Given the description of an element on the screen output the (x, y) to click on. 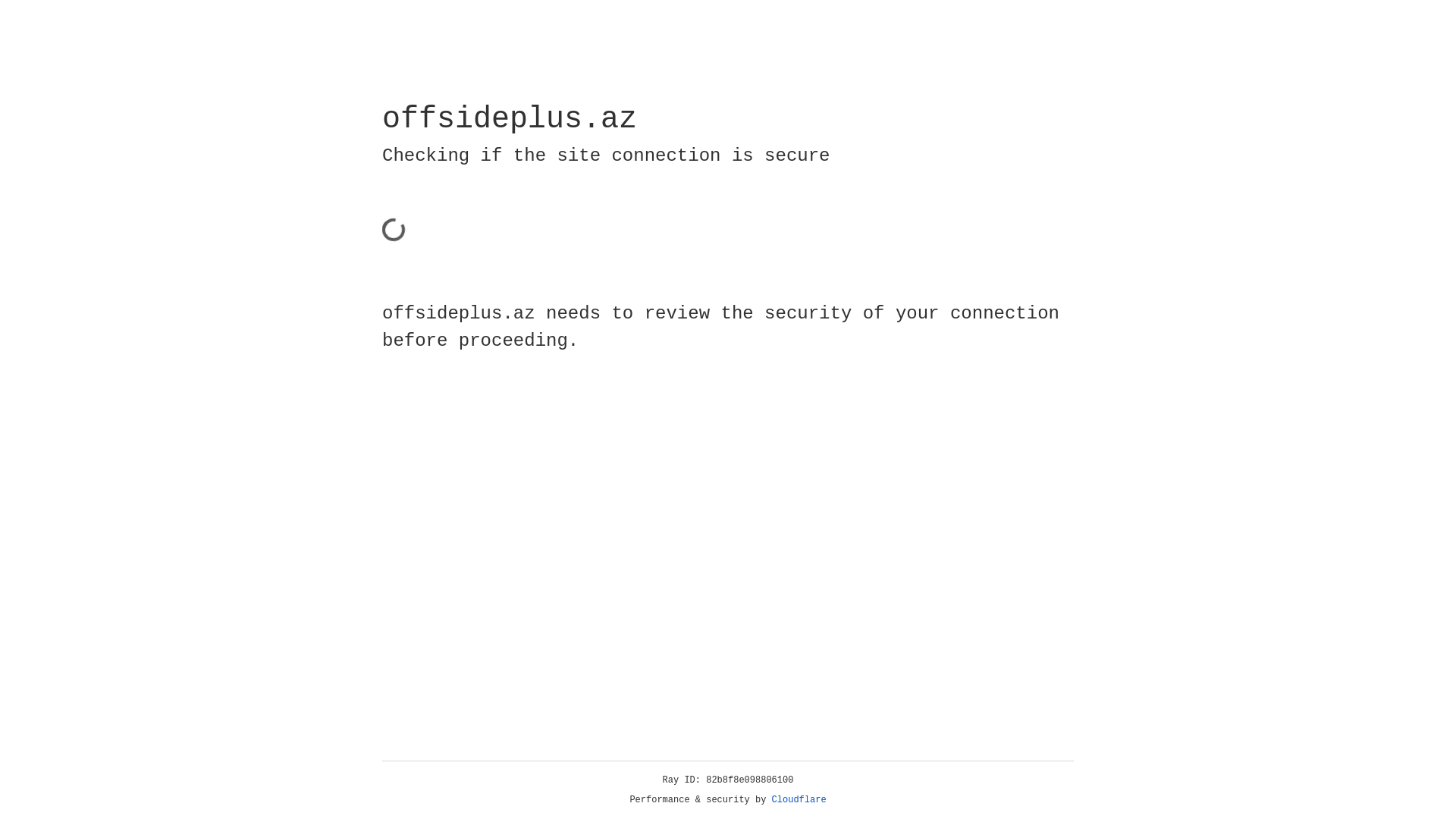
Cloudflare Element type: text (798, 799)
